Given the description of an element on the screen output the (x, y) to click on. 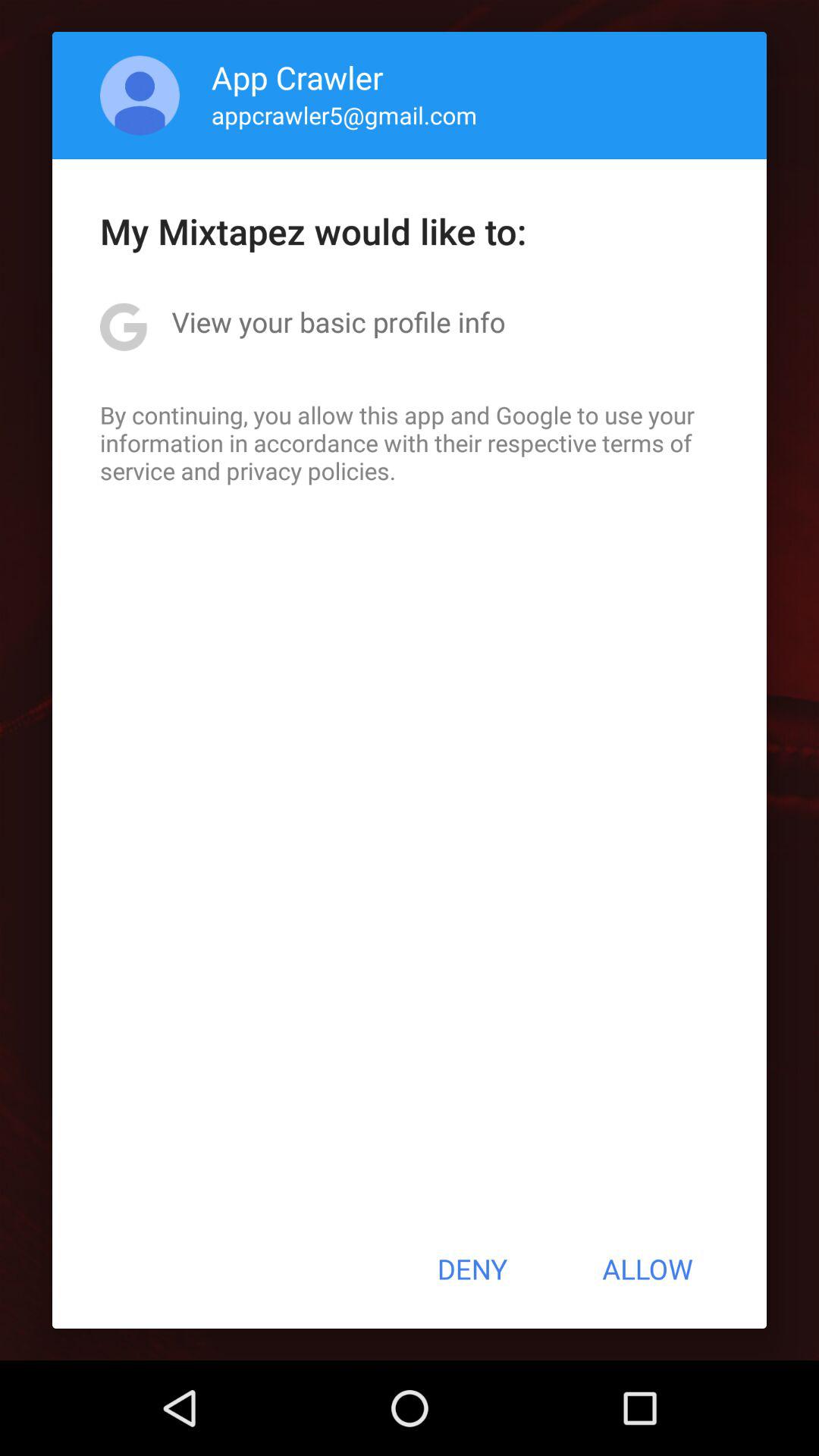
turn off the item above appcrawler5@gmail.com (297, 76)
